Given the description of an element on the screen output the (x, y) to click on. 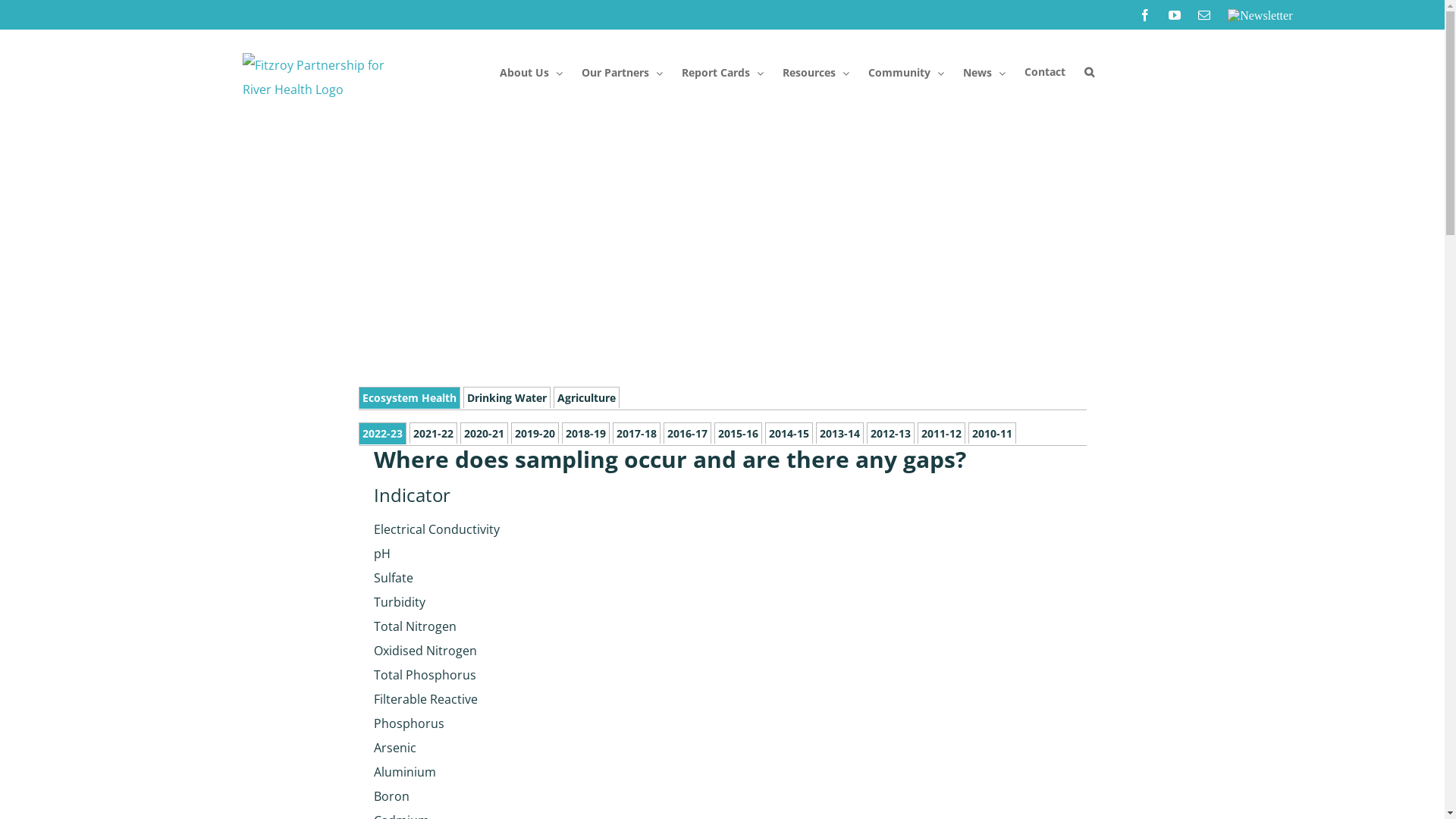
Aluminium Element type: text (448, 771)
Resources Element type: text (815, 76)
2010-11 Element type: text (991, 432)
2012-13 Element type: text (889, 432)
2022-23 Element type: text (381, 433)
Community Element type: text (905, 76)
2019-20 Element type: text (534, 432)
Arsenic Element type: text (448, 747)
2013-14 Element type: text (839, 432)
Facebook Element type: text (1145, 15)
Agriculture Element type: text (586, 396)
Search Element type: hover (1088, 75)
2011-12 Element type: text (941, 432)
News Element type: text (984, 76)
Drinking Water Element type: text (505, 396)
2015-16 Element type: text (738, 432)
Email Element type: text (1204, 15)
Ecosystem Health Element type: text (408, 397)
Total Nitrogen Element type: text (448, 626)
2021-22 Element type: text (433, 432)
About Us Element type: text (529, 76)
Electrical Conductivity Element type: text (448, 529)
Turbidity Element type: text (448, 601)
Total Phosphorus Element type: text (448, 674)
2014-15 Element type: text (788, 432)
2016-17 Element type: text (686, 432)
Our Partners Element type: text (621, 76)
Boron Element type: text (448, 796)
2018-19 Element type: text (584, 432)
Filterable Reactive Phosphorus Element type: text (448, 711)
Sulfate Element type: text (448, 577)
Contact Element type: text (1043, 75)
2020-21 Element type: text (483, 432)
Report Cards Element type: text (721, 76)
YouTube Element type: text (1174, 15)
Oxidised Nitrogen Element type: text (448, 650)
pH Element type: text (448, 553)
Newsletter Element type: text (1259, 15)
2017-18 Element type: text (636, 432)
